Given the description of an element on the screen output the (x, y) to click on. 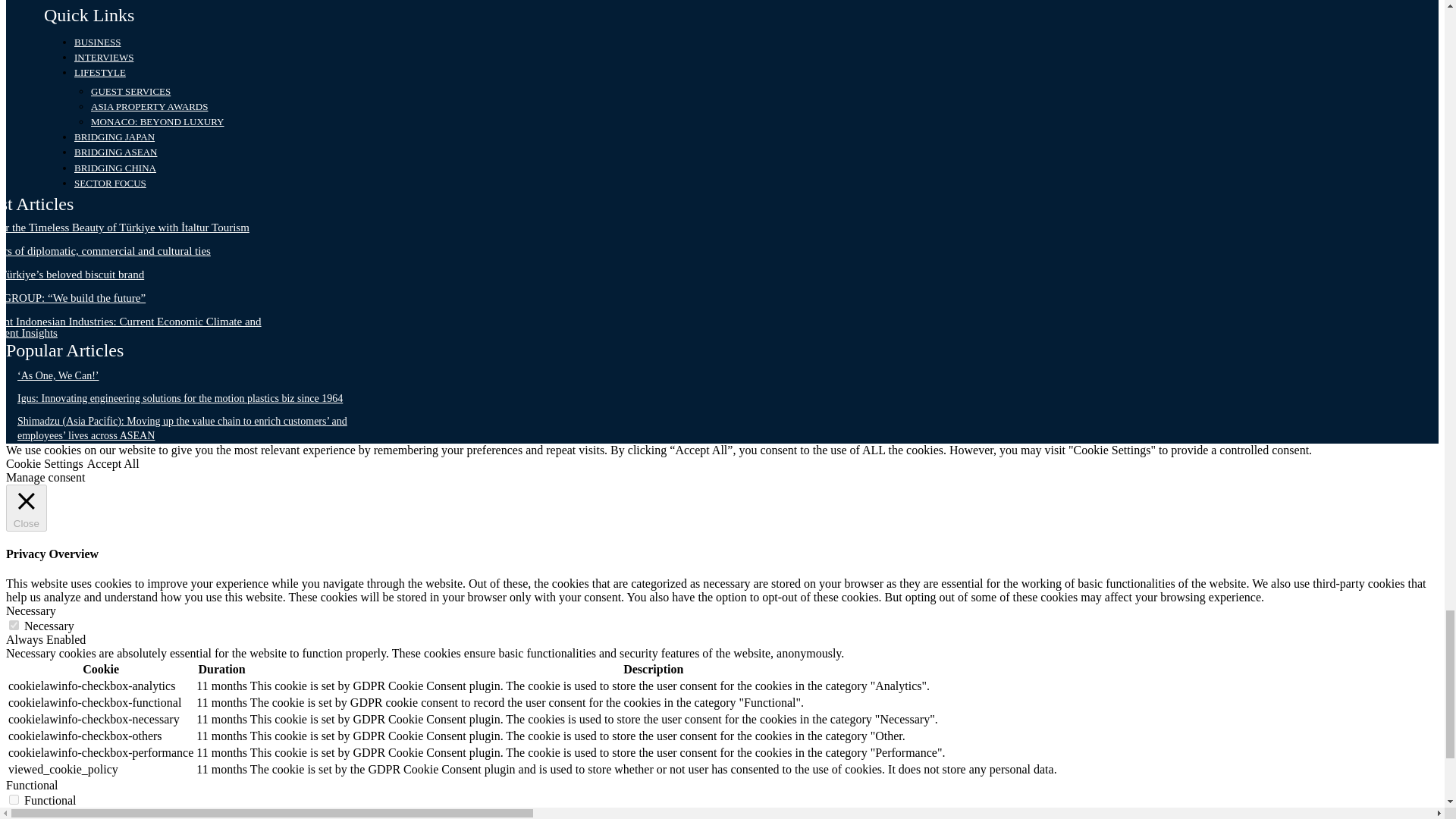
on (13, 799)
on (13, 624)
